Given the description of an element on the screen output the (x, y) to click on. 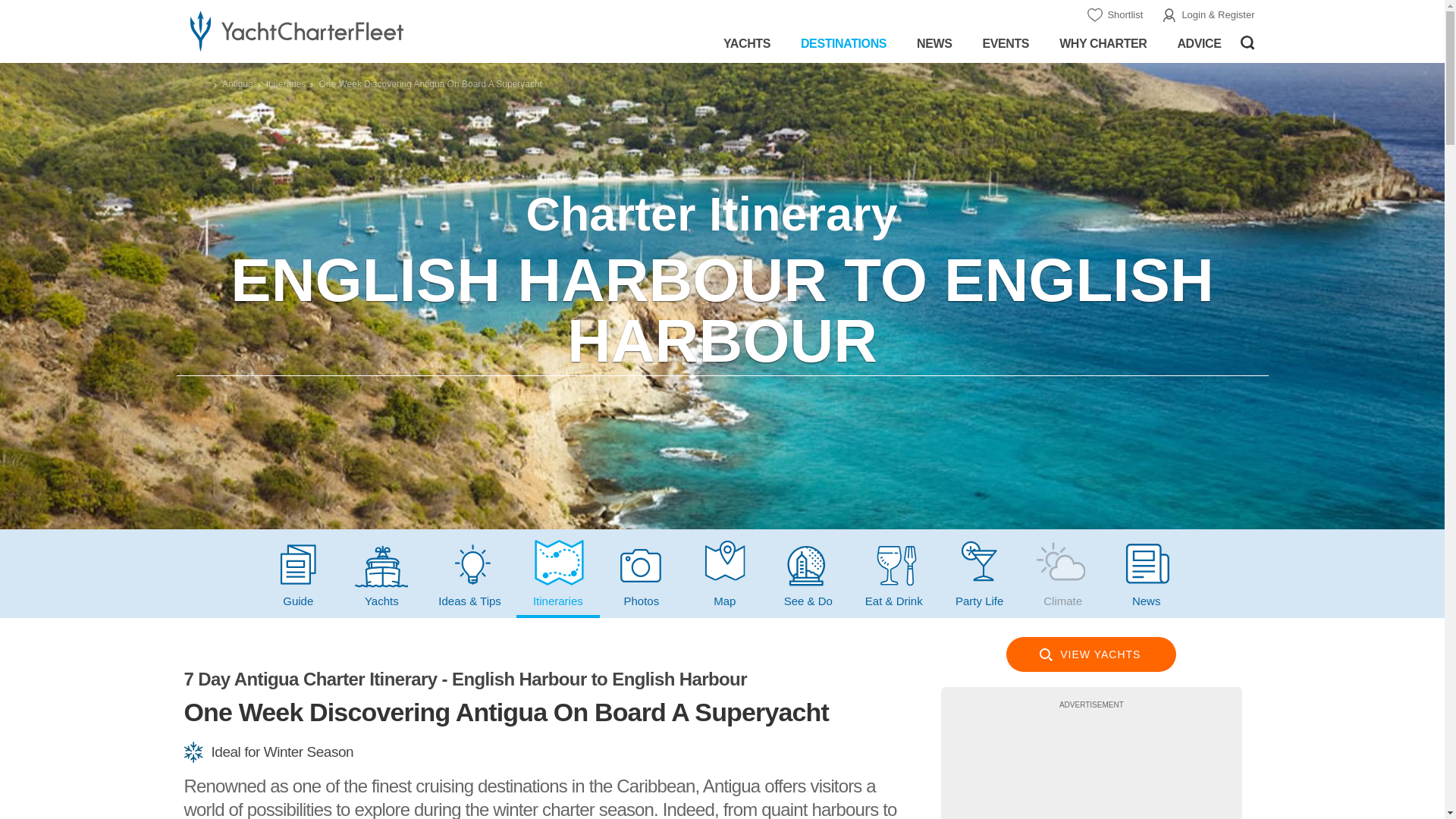
Donate Now (1090, 771)
Back to Homepage (343, 30)
